Given the description of an element on the screen output the (x, y) to click on. 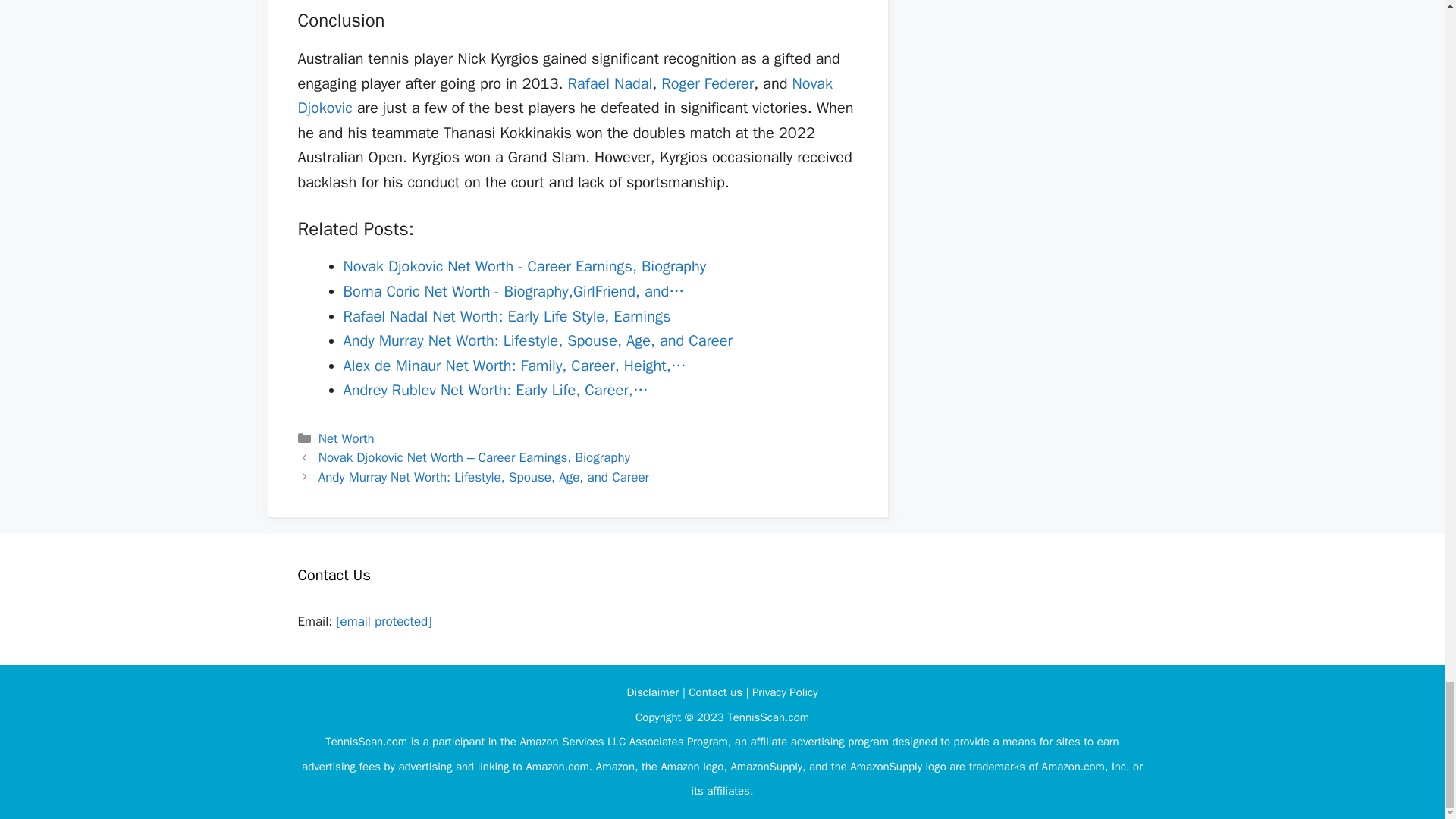
Novak Djokovic (564, 95)
Andy Murray Net Worth: Lifestyle, Spouse, Age, and Career (537, 340)
Novak Djokovic Net Worth - Career Earnings, Biography (524, 266)
Disclaimer (653, 692)
Rafael Nadal (609, 83)
Net Worth (346, 438)
Andy Murray Net Worth: Lifestyle, Spouse, Age, and Career (483, 477)
Roger Federer (707, 83)
Rafael Nadal Net Worth: Early Life Style, Earnings (505, 316)
